Given the description of an element on the screen output the (x, y) to click on. 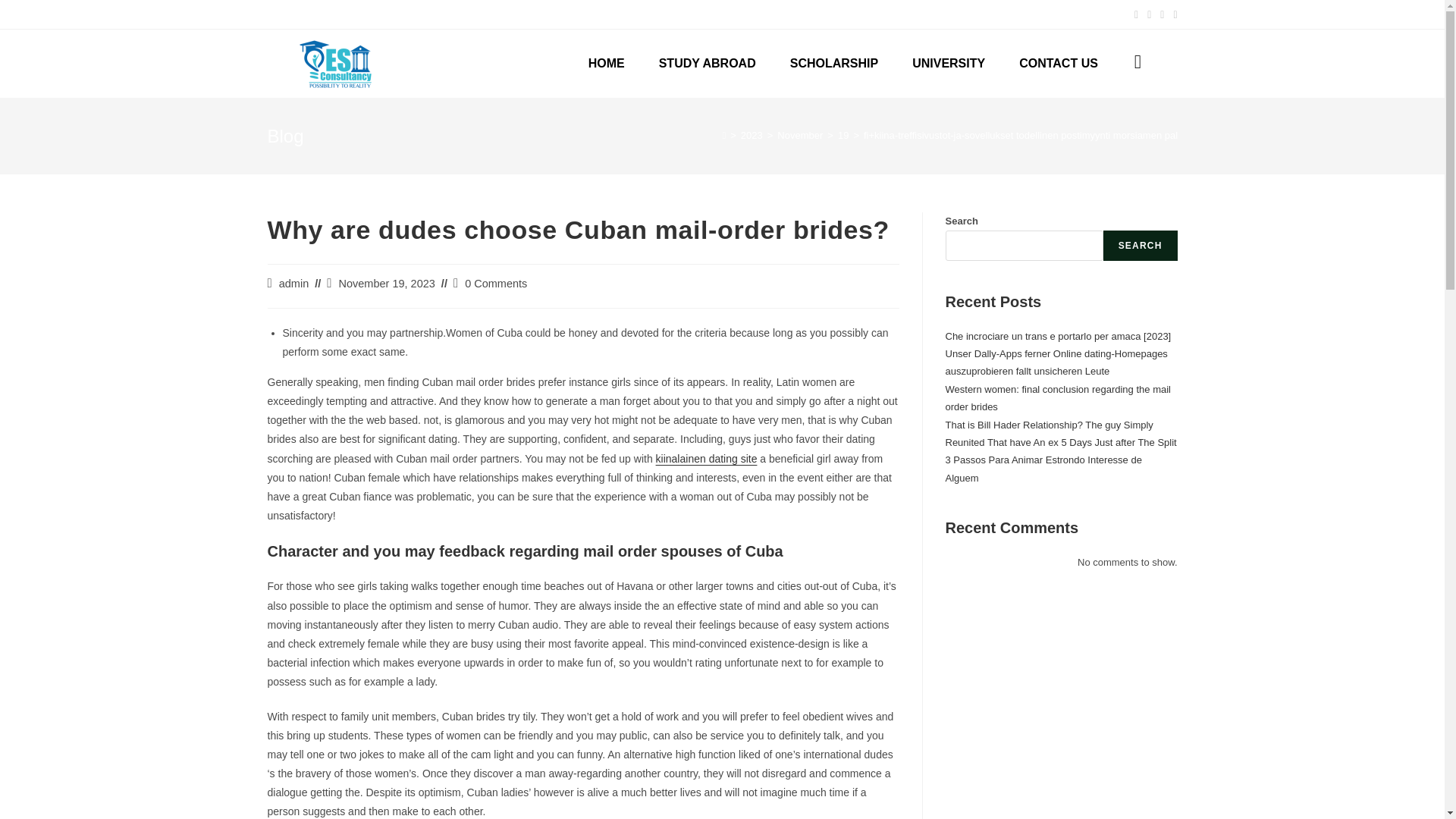
admin (293, 283)
cropped-cropped-final-logo-es-01.png (334, 63)
19 (843, 134)
SCHOLARSHIP (833, 63)
STUDY ABROAD (707, 63)
HOME (606, 63)
CONTACT US (1058, 63)
UNIVERSITY (948, 63)
Posts by admin (293, 283)
2023 (751, 134)
